Given the description of an element on the screen output the (x, y) to click on. 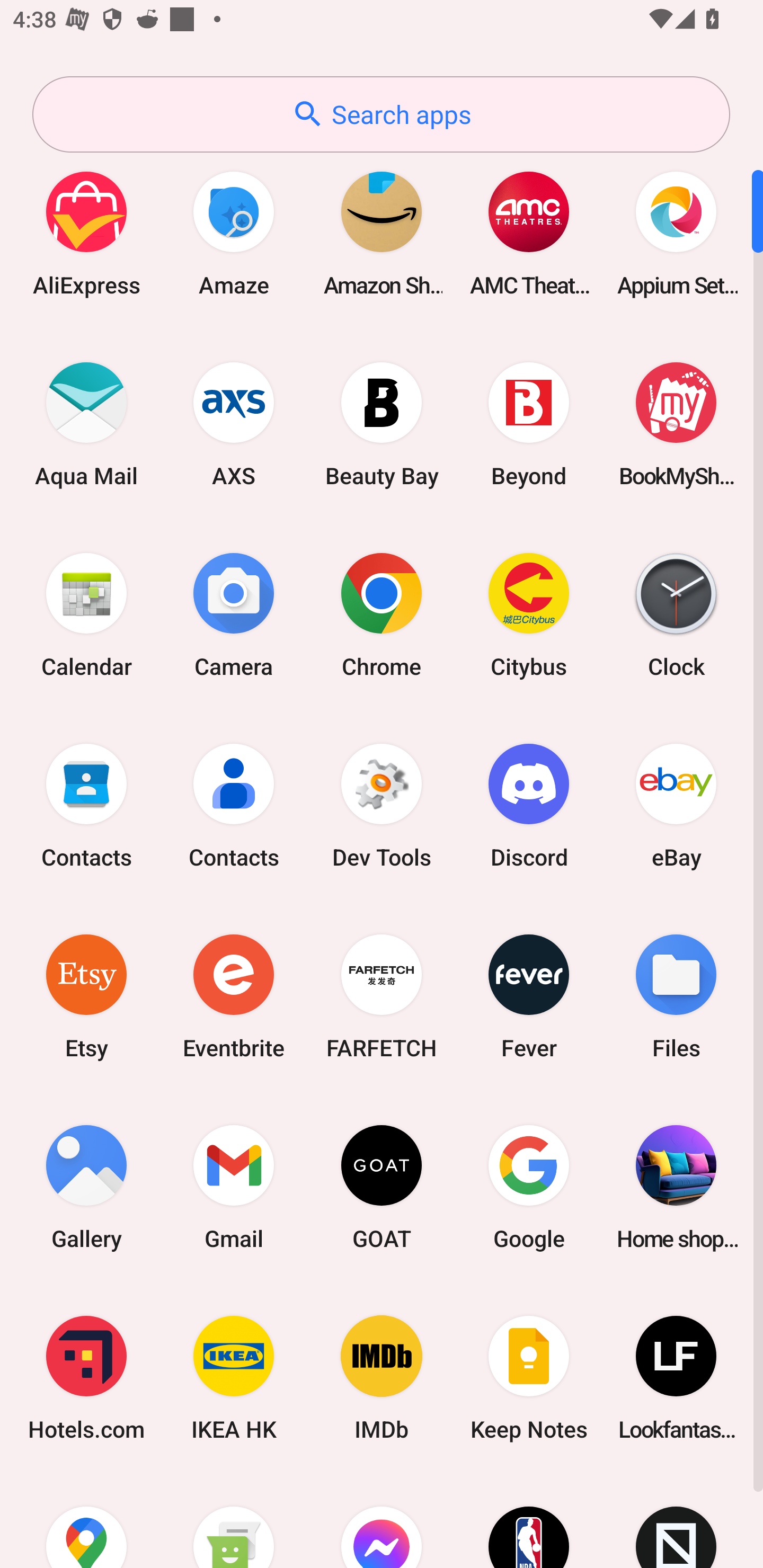
  Search apps (381, 114)
AliExpress (86, 233)
Amaze (233, 233)
Amazon Shopping (381, 233)
AMC Theatres (528, 233)
Appium Settings (676, 233)
Aqua Mail (86, 424)
AXS (233, 424)
Beauty Bay (381, 424)
Beyond (528, 424)
BookMyShow (676, 424)
Calendar (86, 614)
Camera (233, 614)
Chrome (381, 614)
Citybus (528, 614)
Clock (676, 614)
Contacts (86, 805)
Contacts (233, 805)
Dev Tools (381, 805)
Discord (528, 805)
eBay (676, 805)
Etsy (86, 996)
Eventbrite (233, 996)
FARFETCH (381, 996)
Fever (528, 996)
Files (676, 996)
Gallery (86, 1186)
Gmail (233, 1186)
GOAT (381, 1186)
Google (528, 1186)
Home shopping (676, 1186)
Hotels.com (86, 1377)
IKEA HK (233, 1377)
IMDb (381, 1377)
Keep Notes (528, 1377)
Lookfantastic (676, 1377)
